Given the description of an element on the screen output the (x, y) to click on. 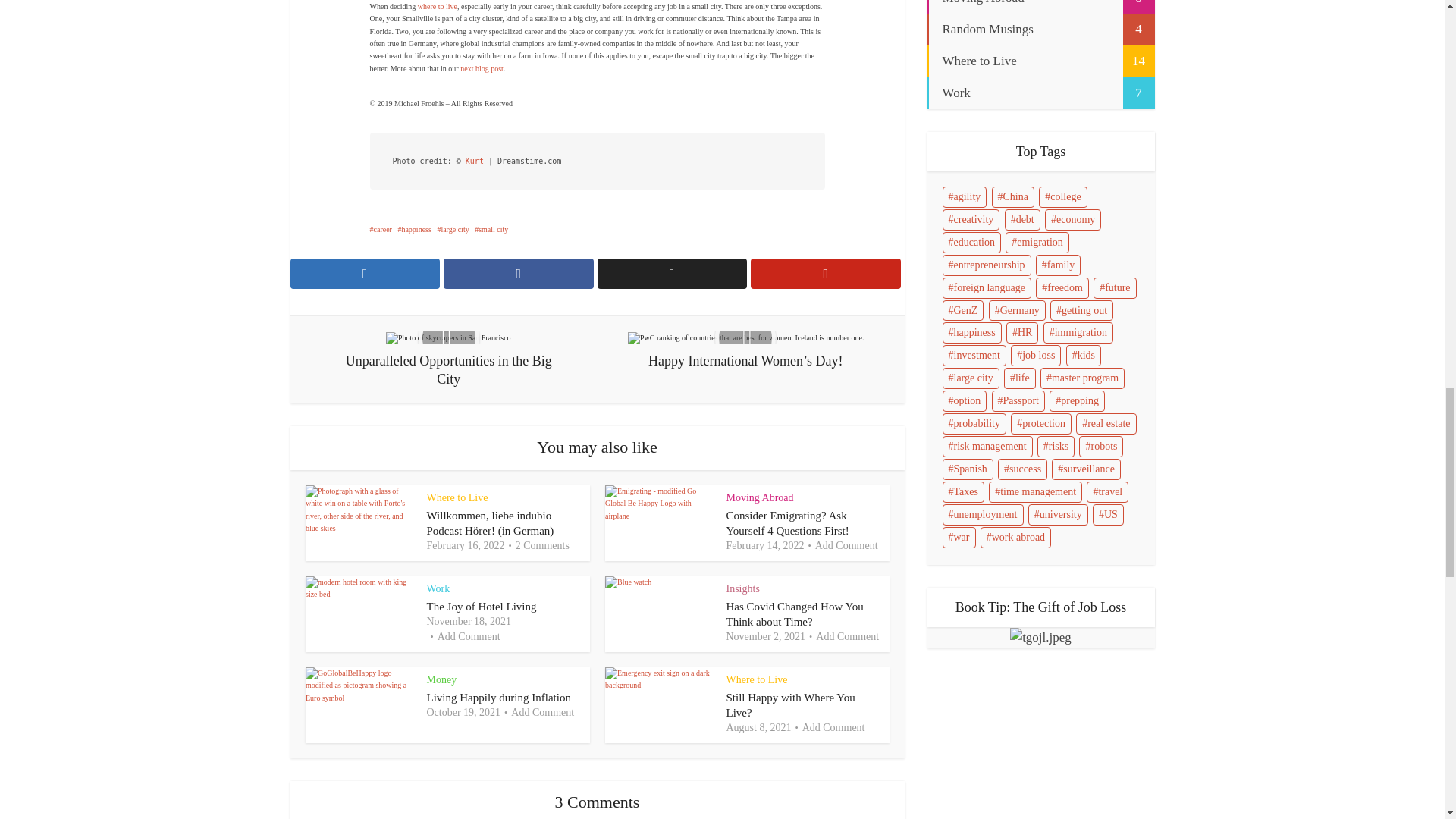
Still Happy with Where You Live? (791, 705)
next blog post (481, 68)
Has Covid Changed How You Think about Time? (794, 614)
happiness (413, 229)
where to live (437, 6)
Living Happily during Inflation (498, 697)
The Joy of Hotel Living (480, 606)
Kurt (474, 161)
career (380, 229)
Consider Emigrating? Ask Yourself 4 Questions First! (787, 523)
